Given the description of an element on the screen output the (x, y) to click on. 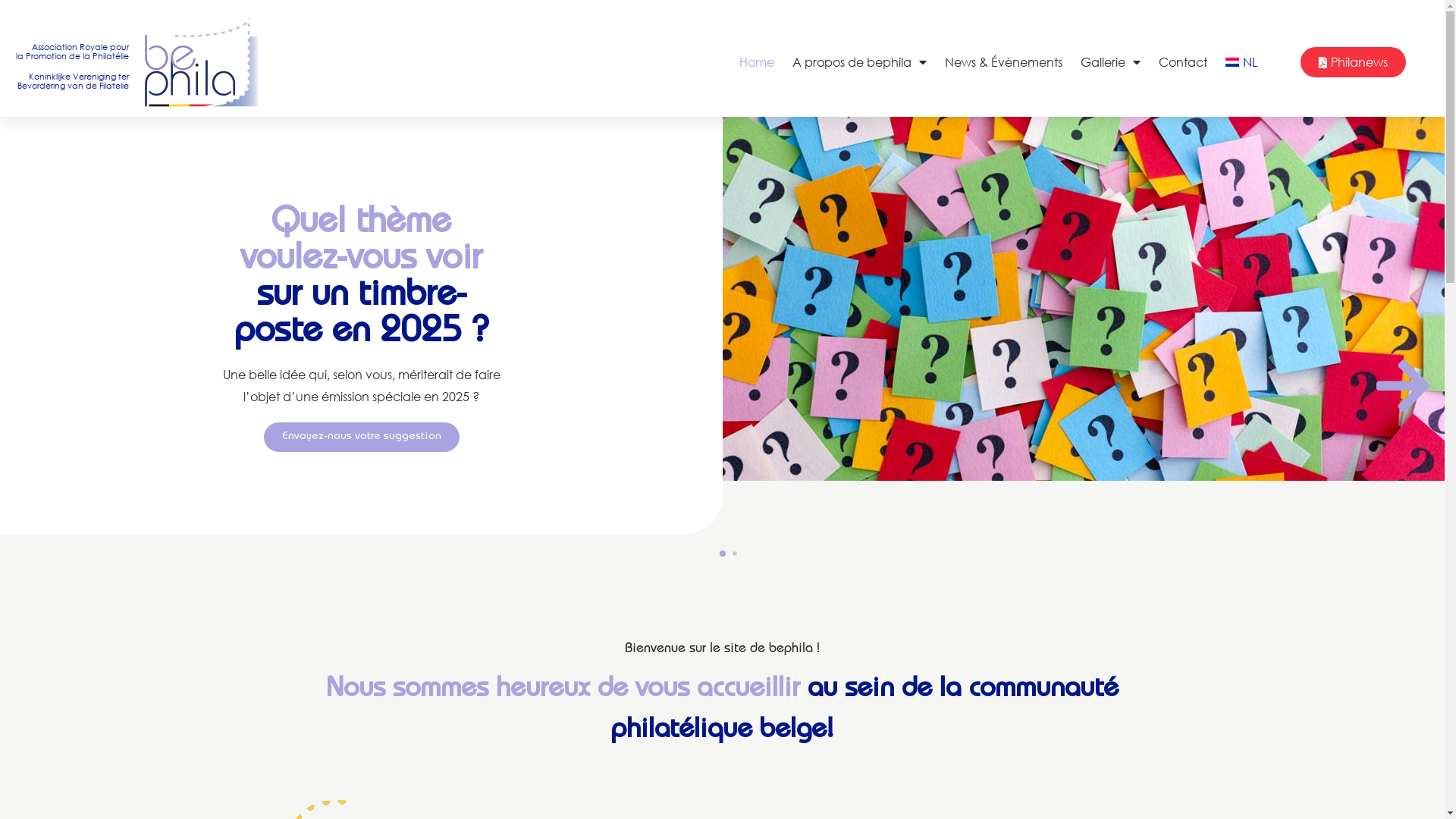
Gallerie Element type: text (1110, 62)
Home Element type: text (756, 62)
Contact Element type: text (1182, 62)
baphila-logo Element type: hover (200, 61)
NL Element type: text (1241, 62)
Envoyez-nous votre suggestion Element type: text (361, 436)
Philanews Element type: text (1352, 62)
A propos de bephila Element type: text (859, 62)
